Given the description of an element on the screen output the (x, y) to click on. 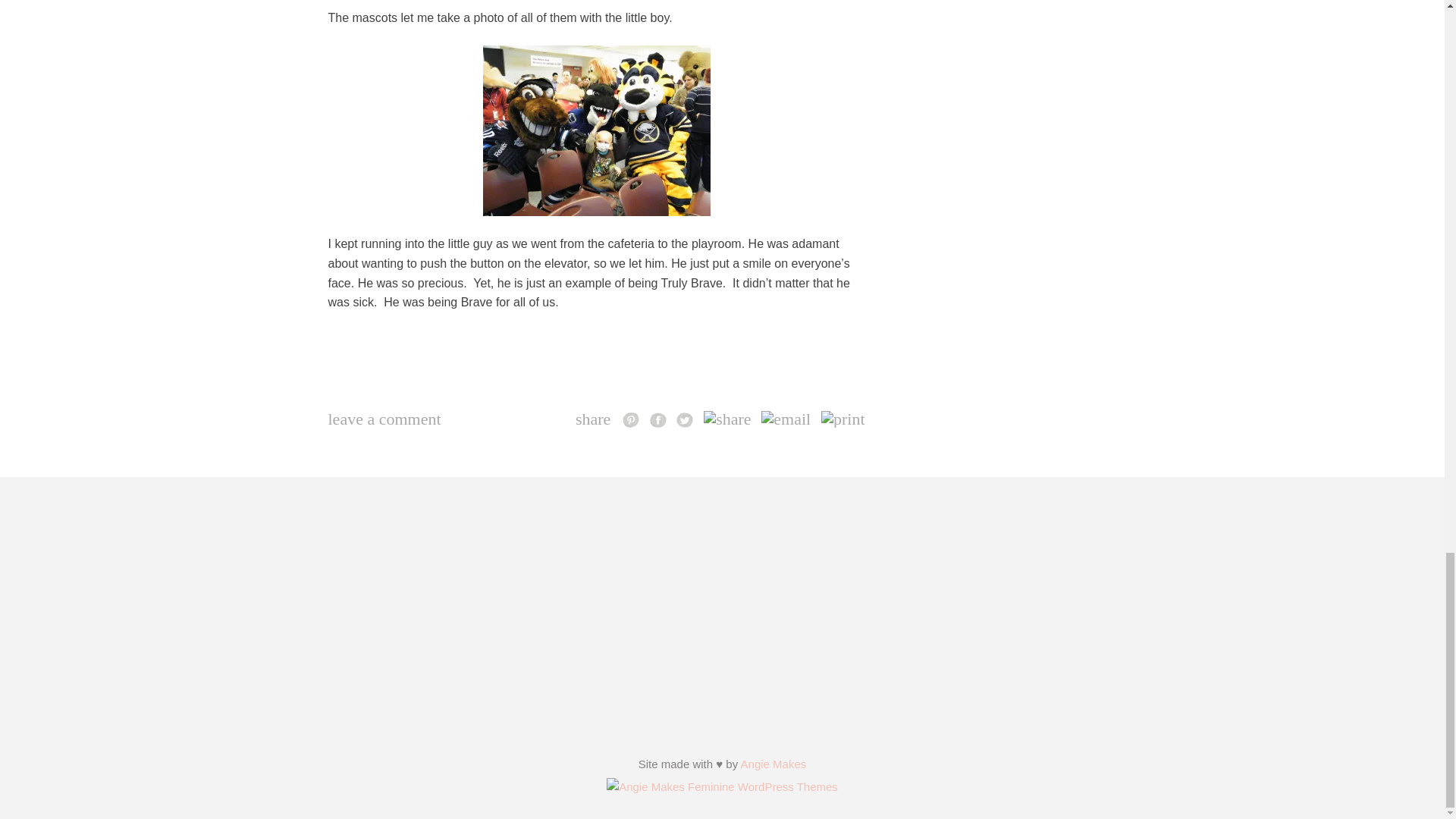
Share by Email (785, 419)
Angie Makes (773, 763)
leave a comment (384, 418)
